Given the description of an element on the screen output the (x, y) to click on. 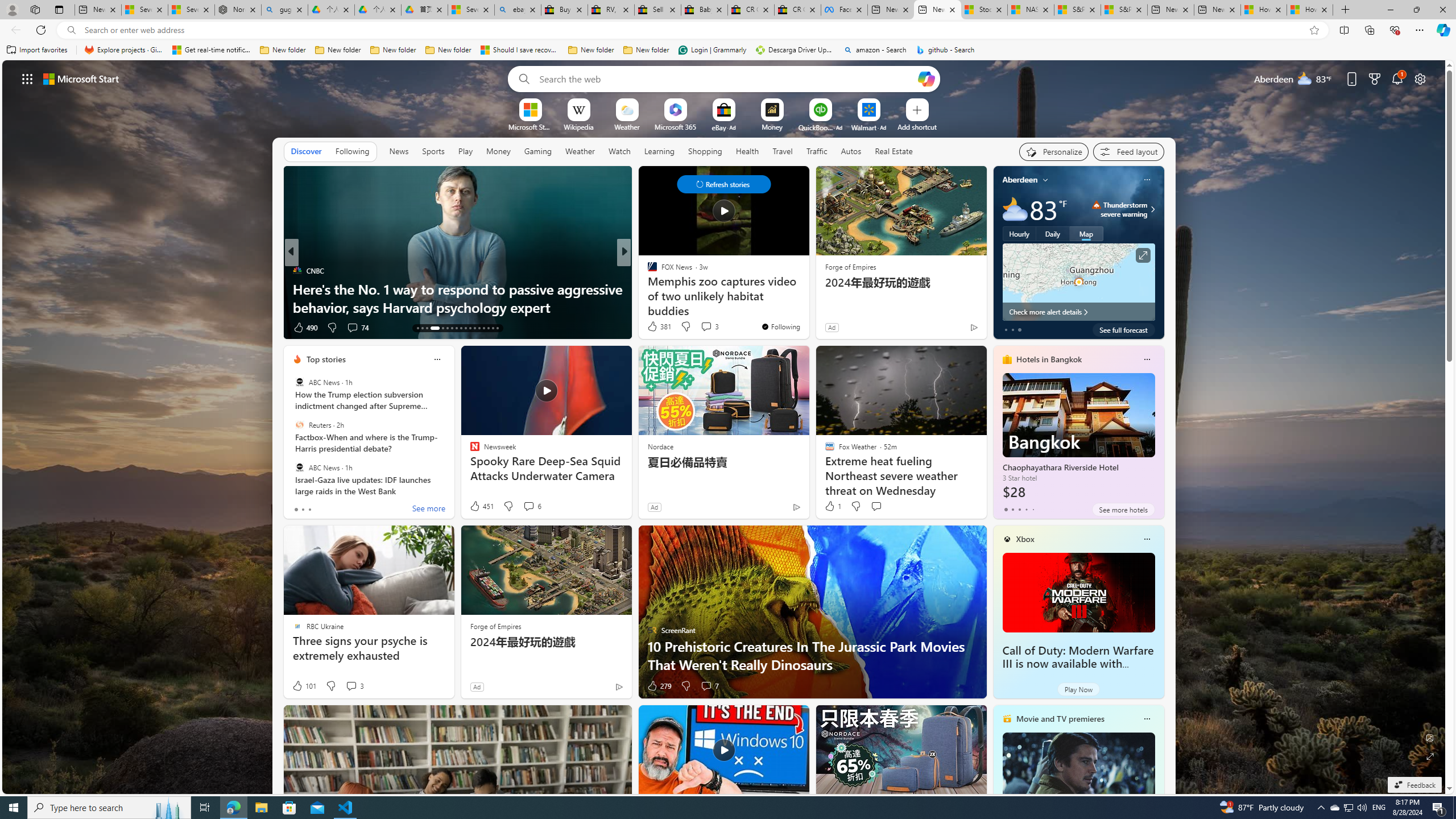
Movie and TV premieres (1060, 718)
Mostly cloudy (1014, 208)
Hourly (1018, 233)
Personalize your feed" (1054, 151)
See full forecast (1123, 329)
How to Use a Monitor With Your Closed Laptop (1309, 9)
View comments 6 Comment (532, 505)
tab-1 (1012, 509)
Feed settings (1128, 151)
Tropics waking up in September (807, 307)
381 Like (658, 326)
Real Estate (893, 151)
View comments 7 Comment (709, 685)
